Given the description of an element on the screen output the (x, y) to click on. 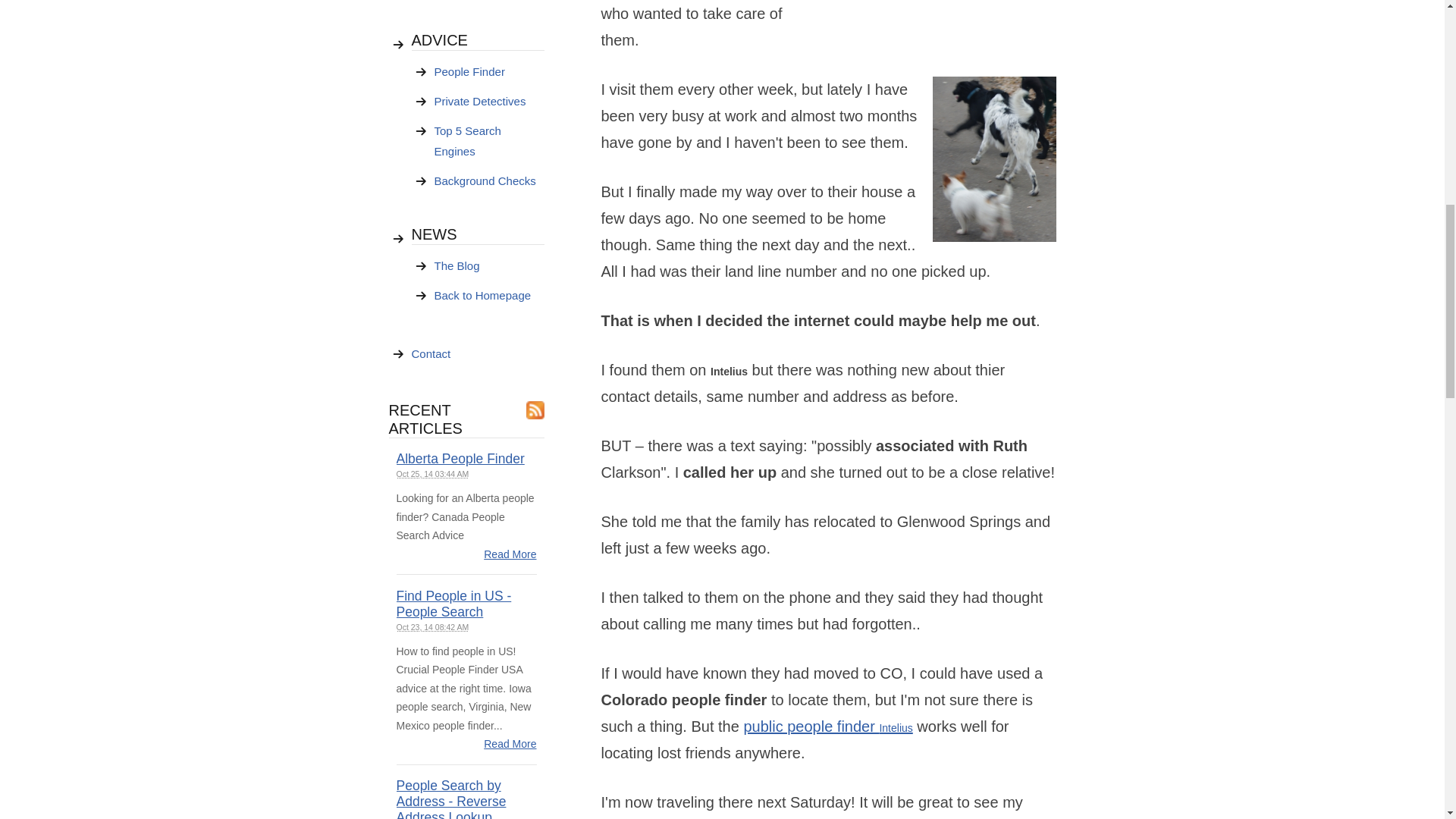
Back to Homepage (488, 295)
Private Detectives (488, 101)
2014-10-25T03:44:22-0400 (432, 473)
2014-10-23T08:42:37-0400 (432, 626)
Contact (476, 352)
Top 5 Search Engines (488, 141)
Background Checks (488, 180)
RECENT ARTICLES (424, 419)
public people finder Intelius (827, 726)
The Blog (488, 266)
People Finder (488, 71)
Advertisement (941, 2)
